Given the description of an element on the screen output the (x, y) to click on. 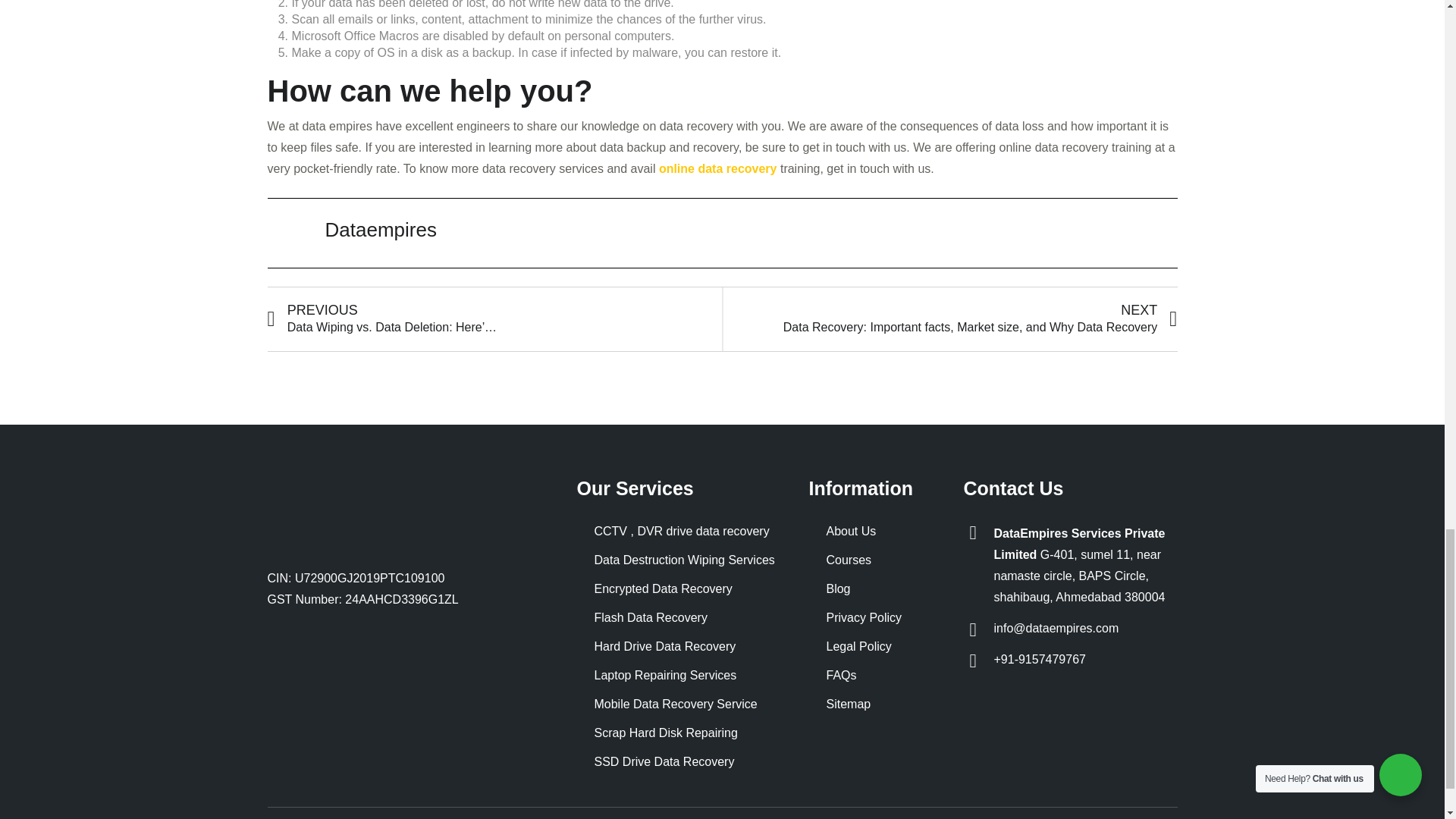
Data Destruction Wiping Services (684, 559)
CCTV , DVR drive data recovery (681, 530)
online data recovery (718, 168)
